Given the description of an element on the screen output the (x, y) to click on. 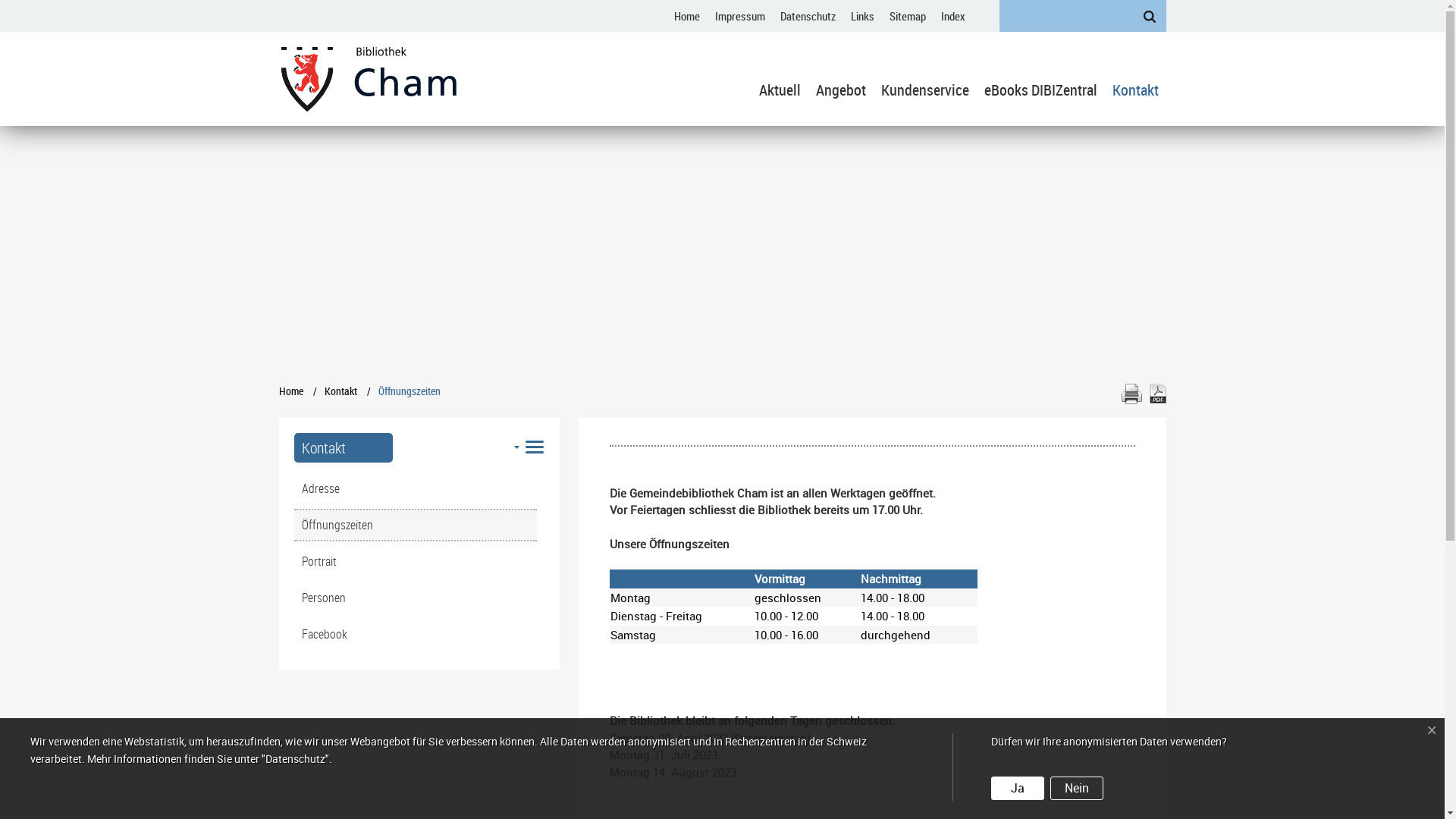
Aktuell Element type: text (778, 94)
Angebot Element type: text (840, 94)
Kundenservice Element type: text (924, 94)
Sitemap Element type: text (906, 15)
Home Element type: text (291, 390)
Links Element type: text (862, 15)
Datenschutz Element type: text (806, 15)
Kontakt Element type: text (1134, 94)
Kontakt Element type: text (343, 447)
Ja Element type: text (1017, 788)
Personen Element type: text (415, 597)
Impressum Element type: text (739, 15)
Kontakt Element type: text (340, 390)
Adresse Element type: text (415, 488)
Nein Element type: text (1076, 788)
eBooks DIBIZentral Element type: text (1040, 94)
Facebook Element type: text (415, 634)
Index Element type: text (952, 15)
Home Element type: text (686, 15)
Portrait Element type: text (415, 561)
